Given the description of an element on the screen output the (x, y) to click on. 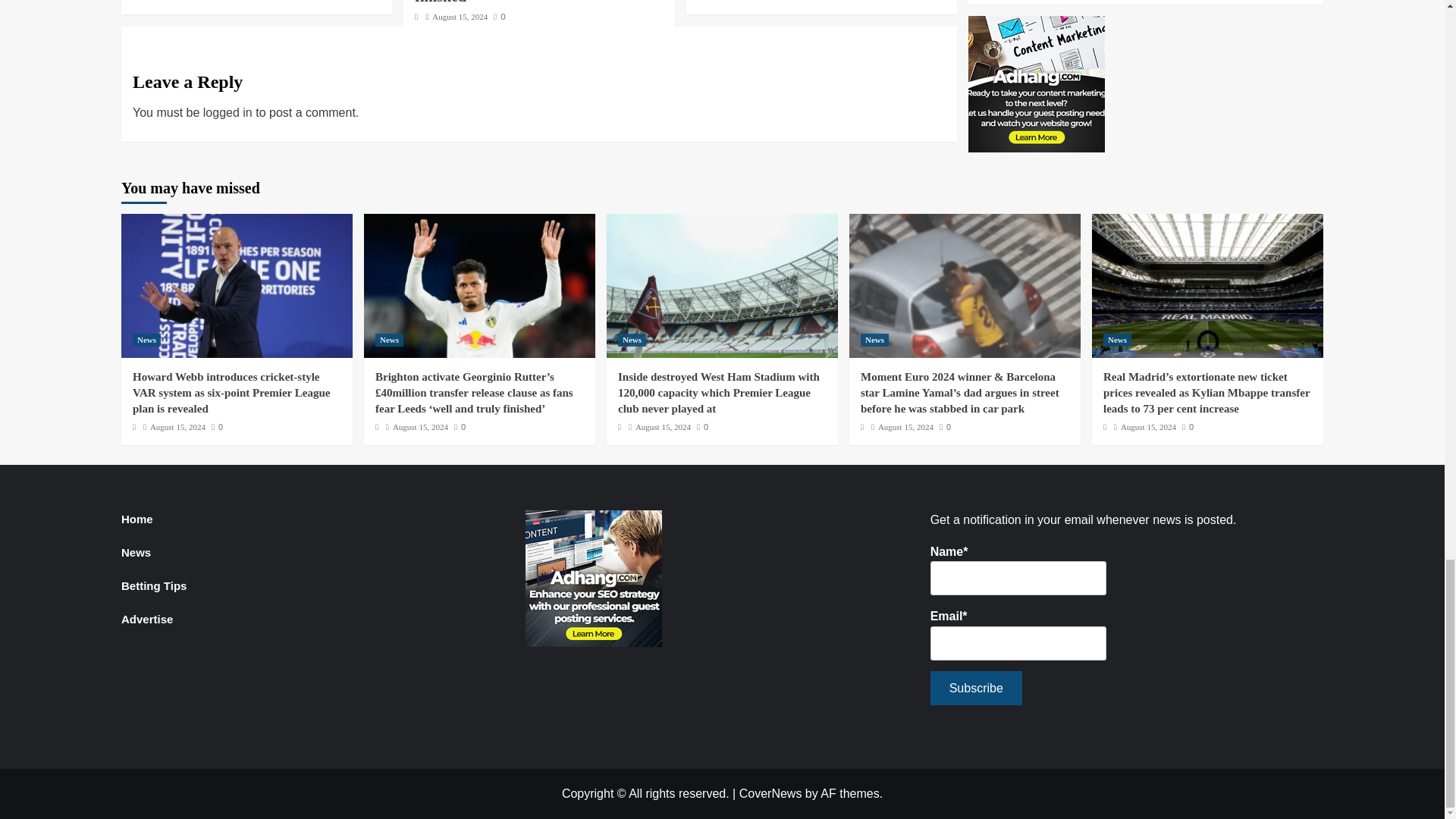
Subscribe (976, 687)
August 15, 2024 (459, 16)
